Given the description of an element on the screen output the (x, y) to click on. 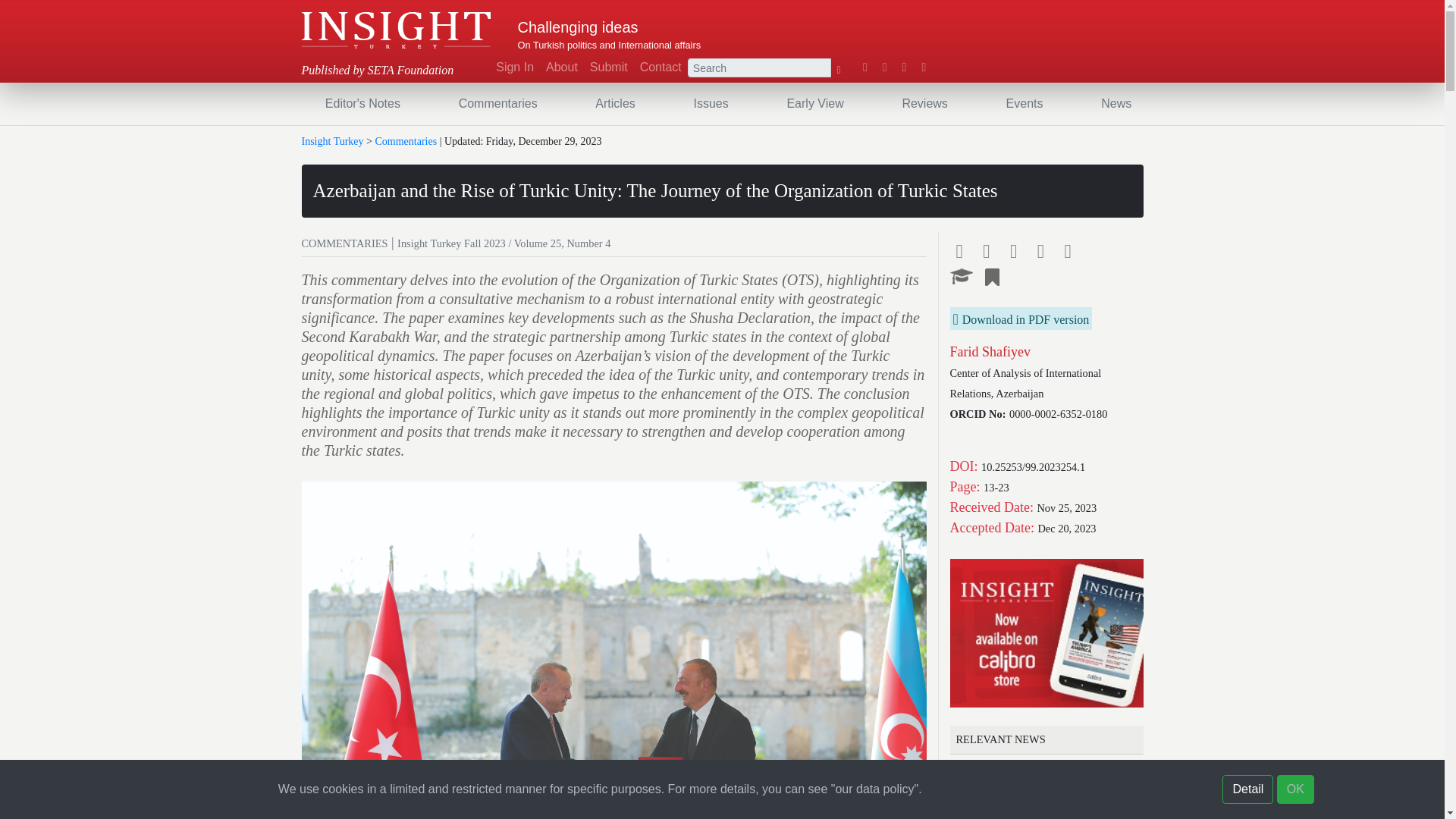
Insight Turkey (396, 30)
Submit (608, 67)
Articles (614, 103)
Editor's Notes (362, 103)
About (561, 67)
Contact (660, 67)
Submit (608, 67)
Reviews (924, 103)
Early View (814, 103)
Commentaries (497, 103)
